Given the description of an element on the screen output the (x, y) to click on. 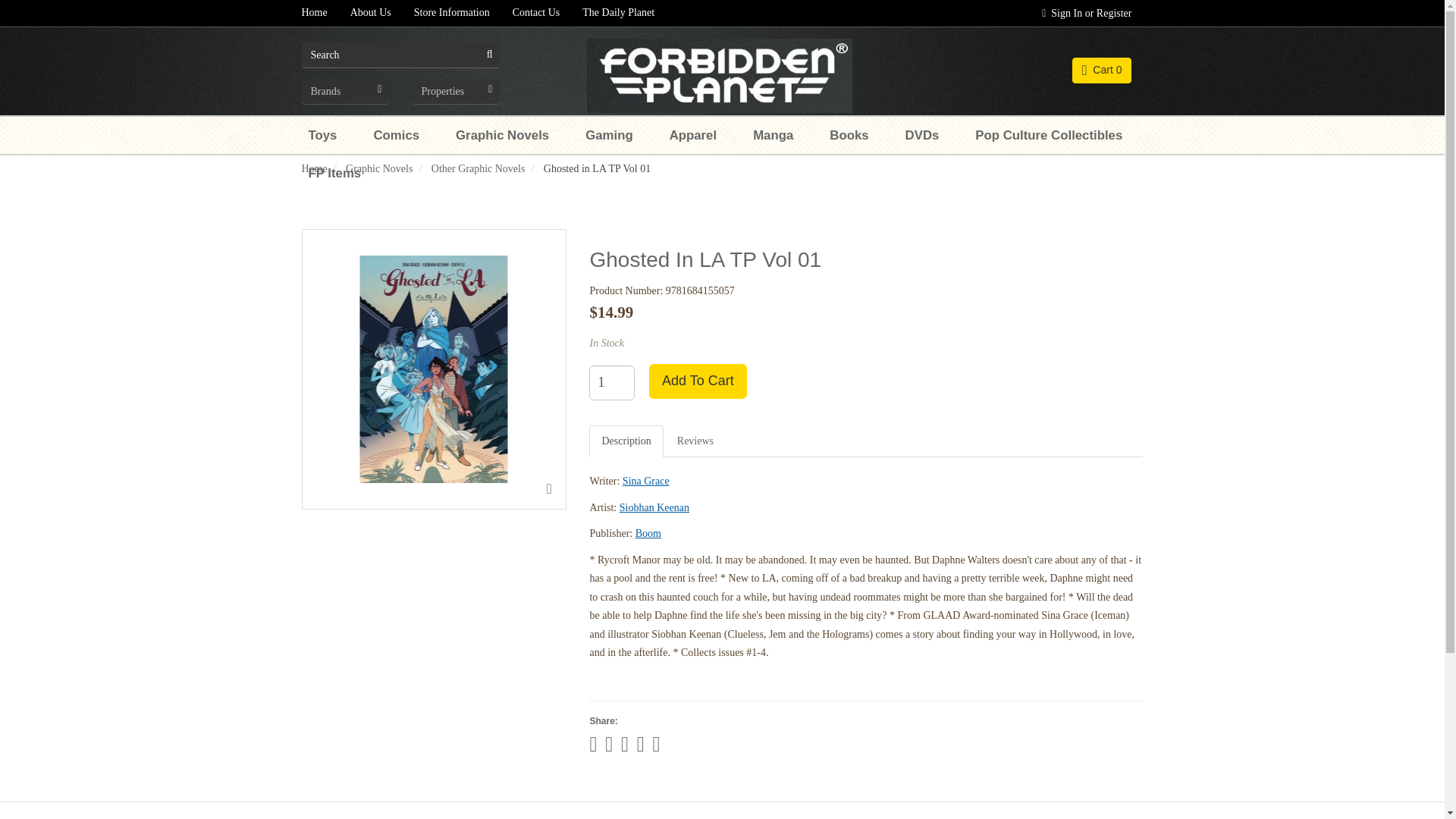
The Daily Planet (617, 13)
  Sign In or Register (1086, 13)
  Cart 0 (1101, 70)
Store Information (451, 13)
Home (313, 13)
Contact Us (536, 13)
1 (611, 382)
About Us (371, 13)
